Given the description of an element on the screen output the (x, y) to click on. 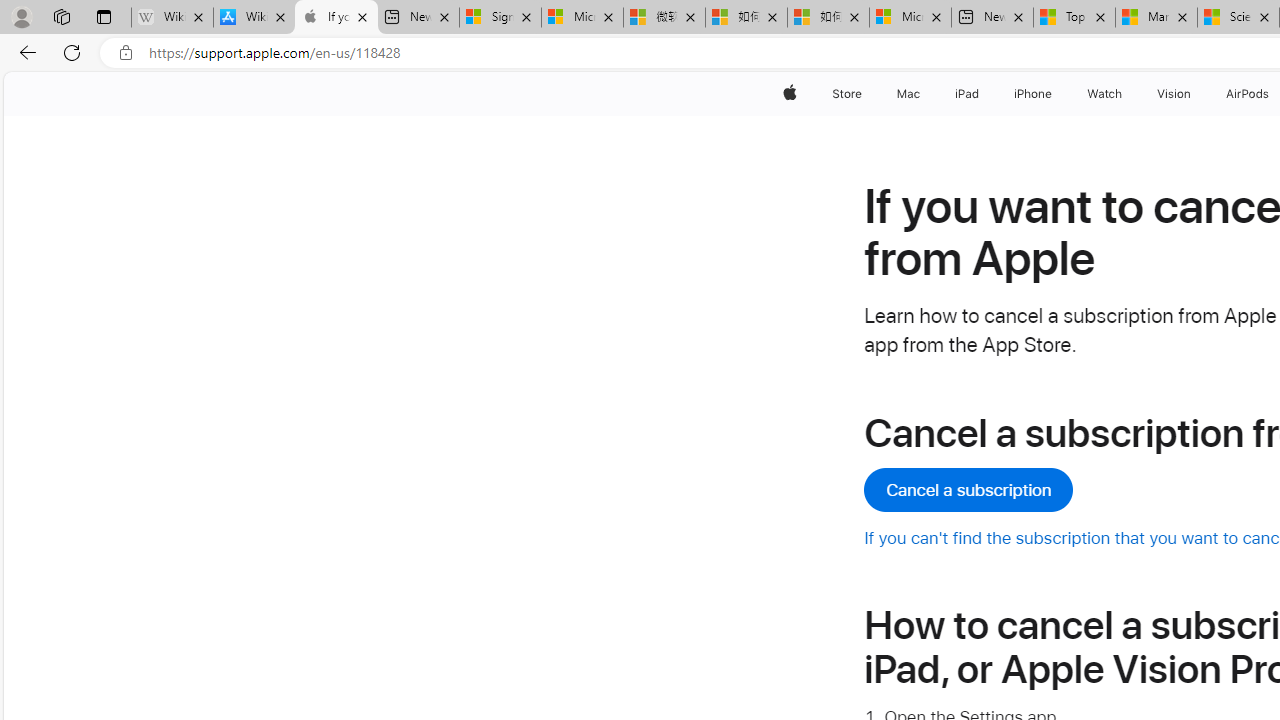
Store (846, 93)
iPad (965, 93)
Apple (789, 93)
iPhone menu (1055, 93)
AirPods (1247, 93)
Store (846, 93)
Store menu (864, 93)
Vision (1174, 93)
Marine life - MSN (1156, 17)
Vision (1174, 93)
